Given the description of an element on the screen output the (x, y) to click on. 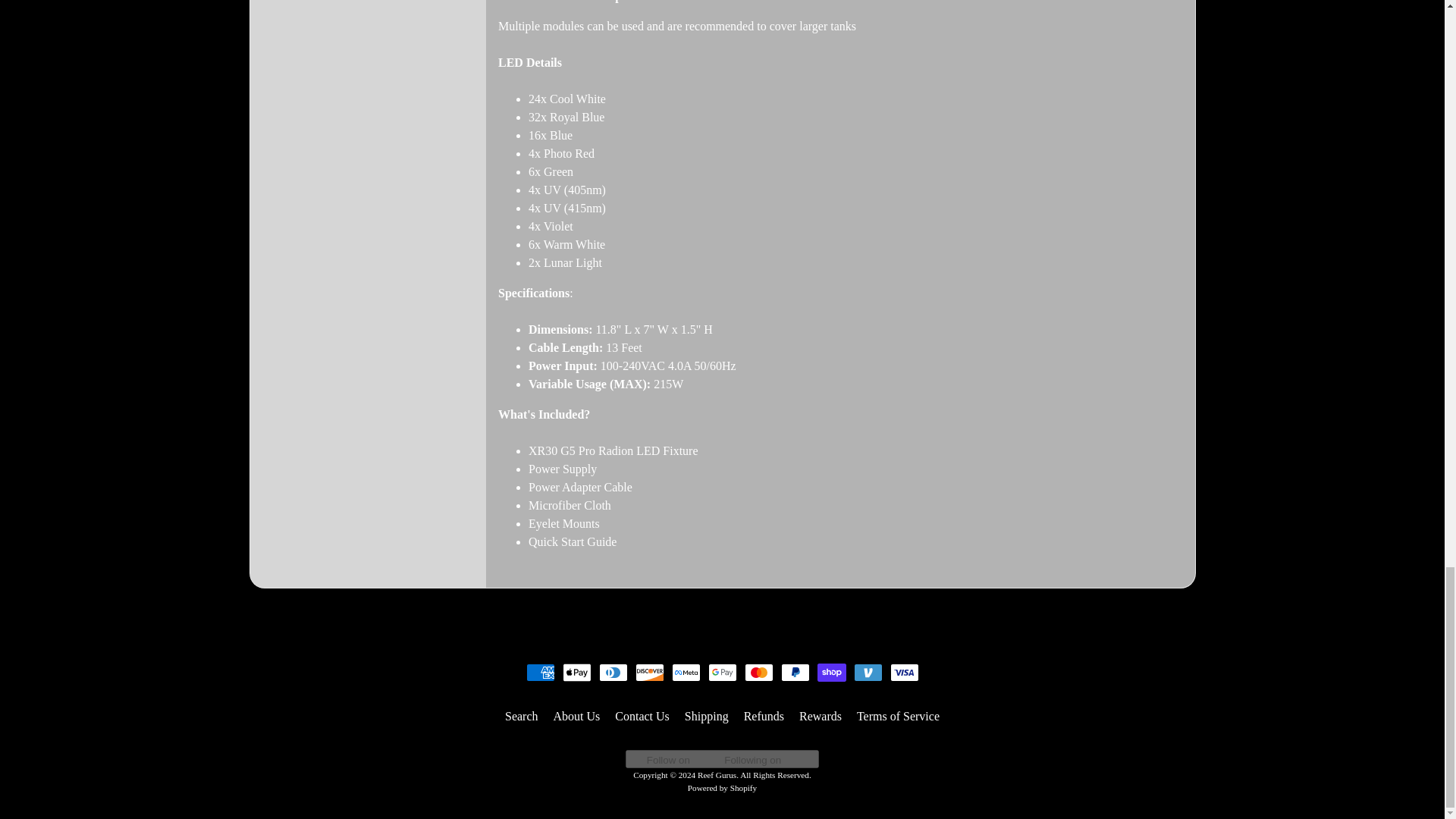
Apple Pay (576, 672)
Mastercard (758, 672)
Diners Club (612, 672)
Venmo (867, 672)
Visa (903, 672)
Shop Pay (830, 672)
Meta Pay (685, 672)
Google Pay (721, 672)
Discover (648, 672)
PayPal (794, 672)
